Given the description of an element on the screen output the (x, y) to click on. 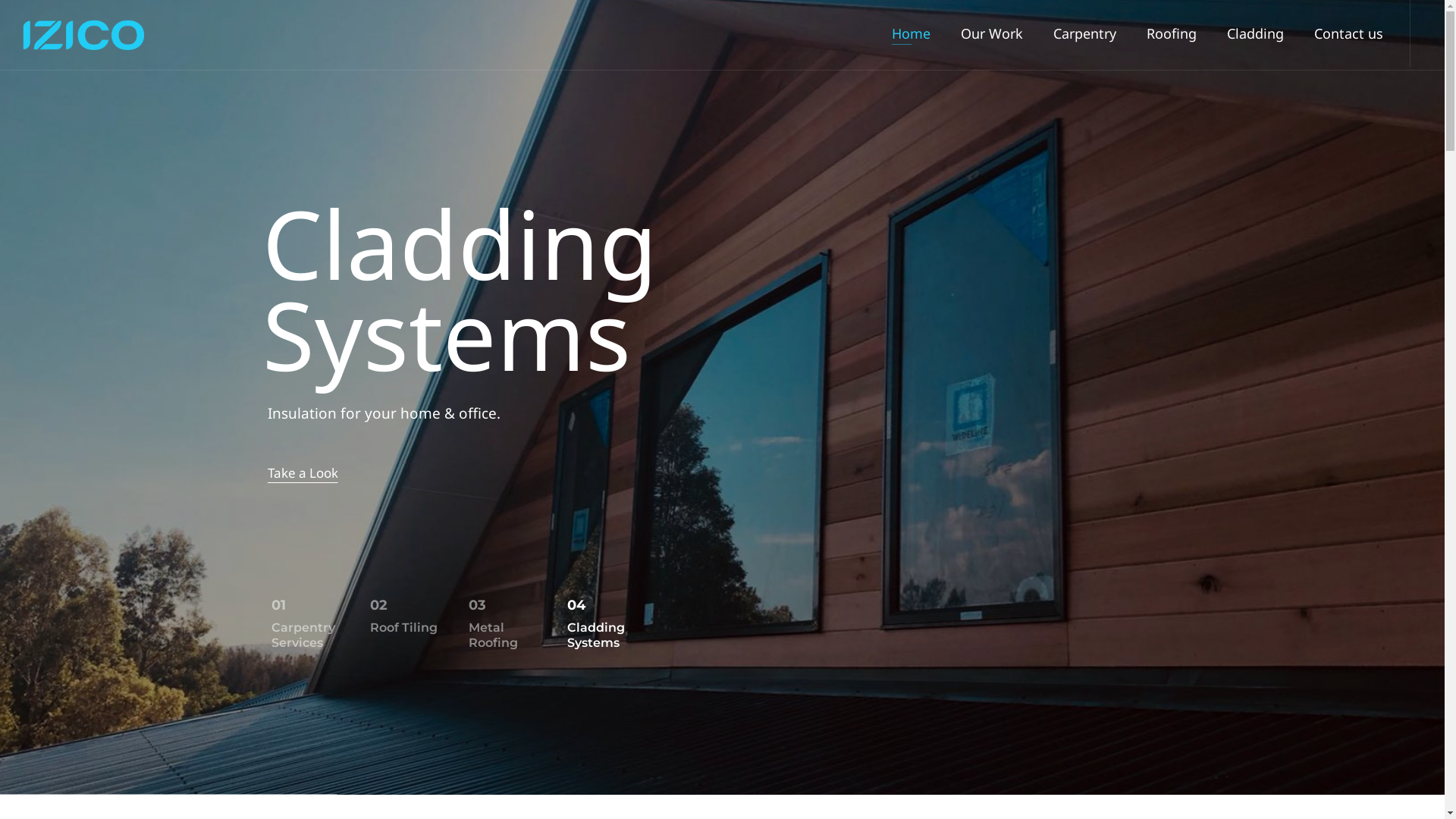
Take a Look Element type: text (301, 473)
Cladding Element type: text (1254, 33)
Contact us Element type: text (1348, 33)
Our Work Element type: text (991, 33)
Home Element type: text (910, 33)
Carpentry Element type: text (1084, 33)
Roofing Element type: text (1171, 33)
